Given the description of an element on the screen output the (x, y) to click on. 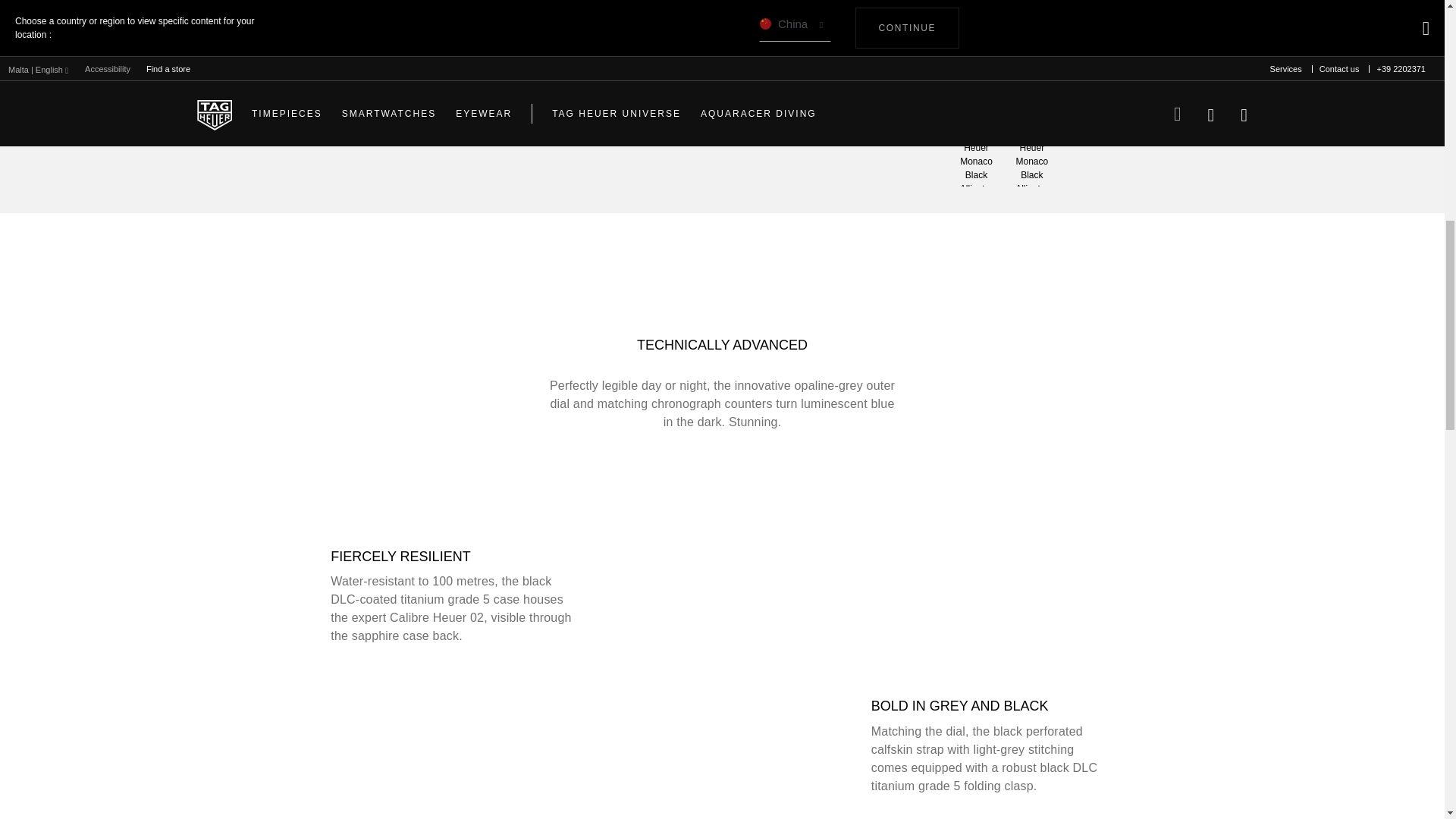
TAG Heuer Monaco  Black Alligator Steel Grey (976, 156)
